Given the description of an element on the screen output the (x, y) to click on. 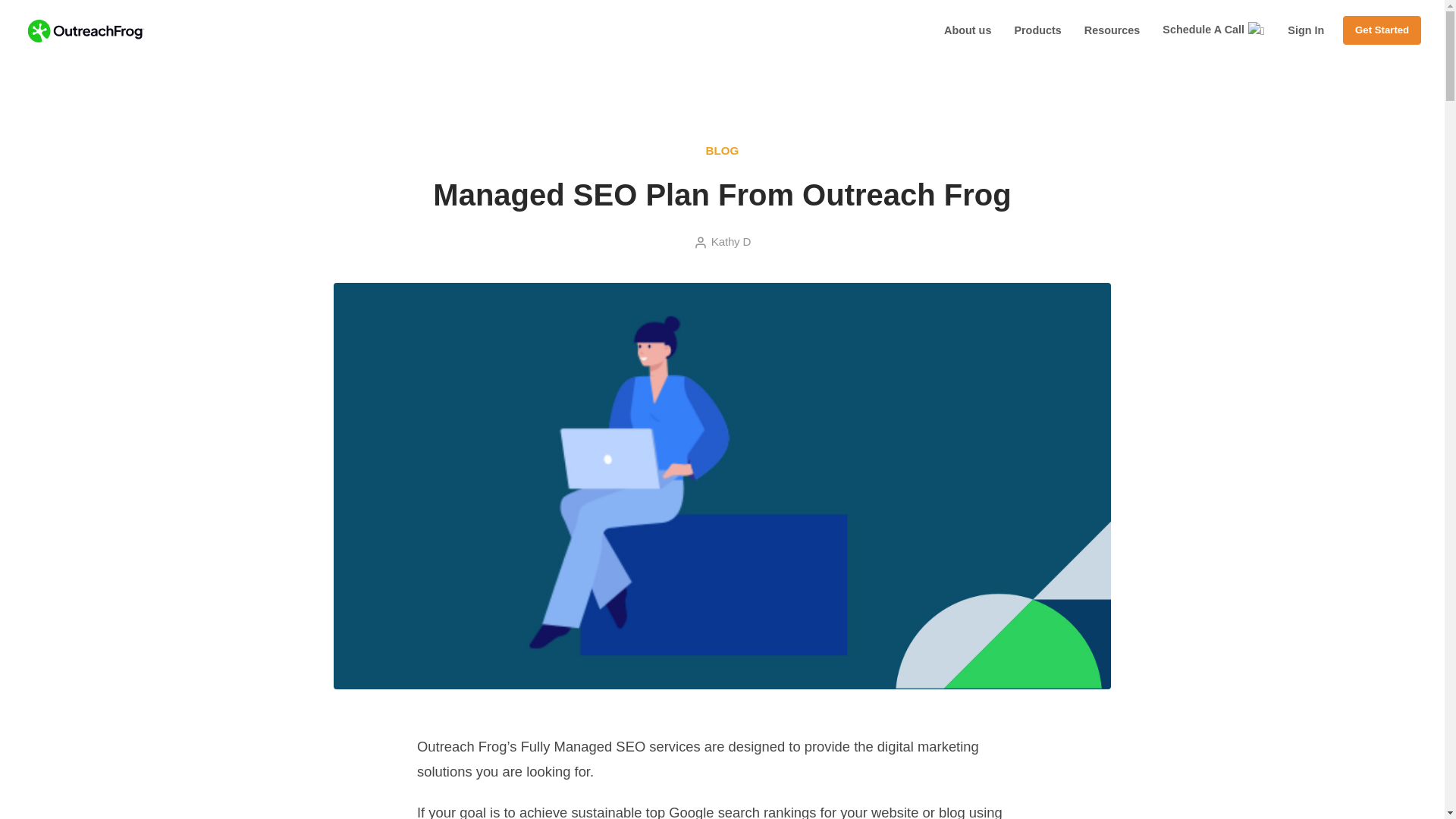
OutReachFrog (223, 10)
Get Started (1381, 30)
About us (967, 30)
BLOG (722, 150)
Schedule A Call (1213, 29)
Sign In (1305, 30)
Kathy D (731, 241)
Resources (1112, 30)
Products (1037, 30)
